Given the description of an element on the screen output the (x, y) to click on. 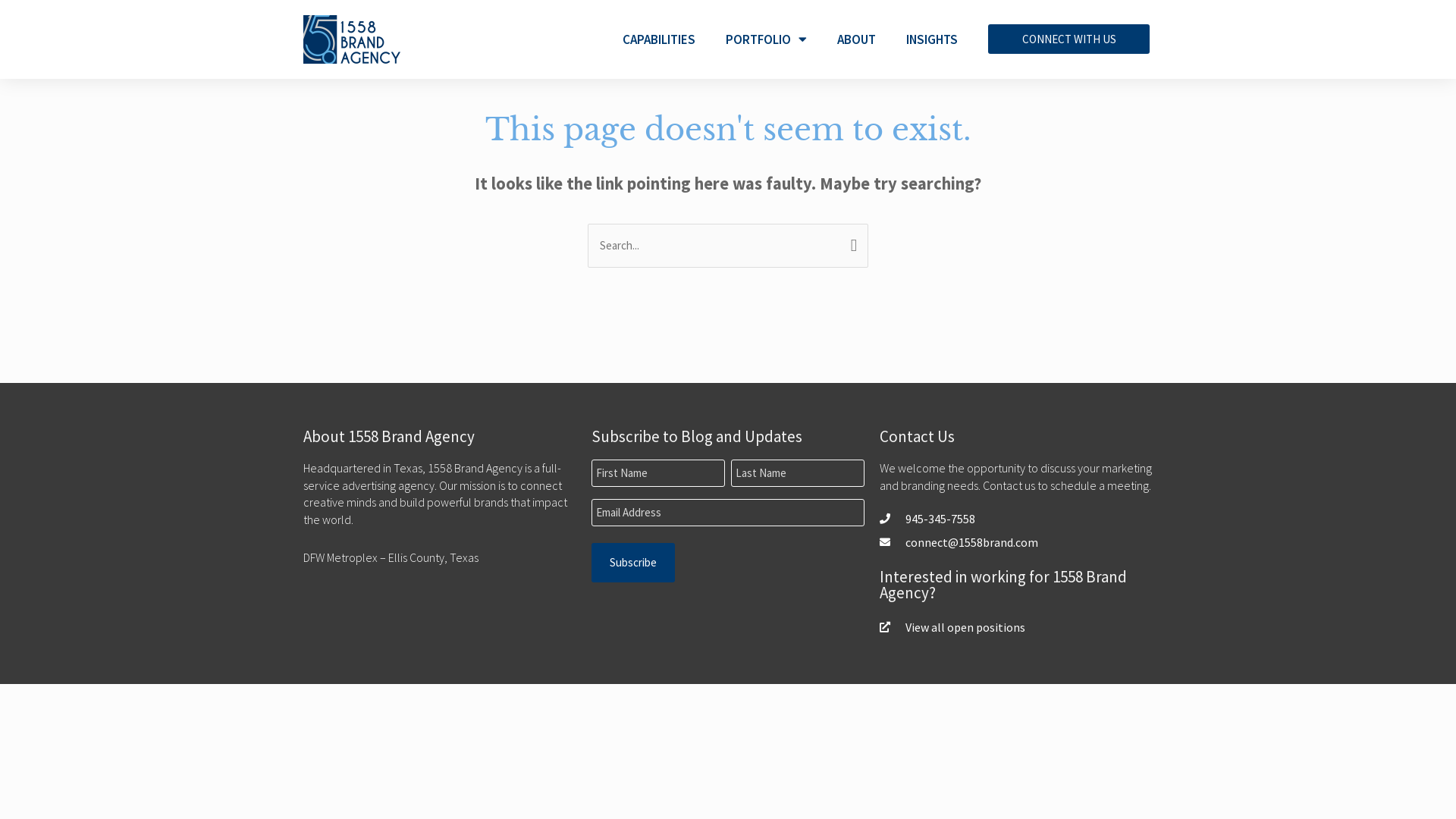
View all open positions Element type: text (1015, 626)
Capabilities Element type: text (686, 35)
INSIGHTS Element type: text (931, 38)
Portfolio Element type: text (784, 35)
About Element type: text (865, 35)
ABOUT Element type: text (856, 38)
Search Element type: text (851, 243)
PORTFOLIO Element type: text (766, 38)
Insights Element type: text (934, 35)
CONNECT WITH US Element type: text (1068, 35)
CONNECT WITH US Element type: text (1068, 38)
Subscribe Element type: text (632, 562)
CAPABILITIES Element type: text (658, 38)
945-345-7558 Element type: text (1015, 518)
connect@1558brand.com Element type: text (1015, 541)
